Given the description of an element on the screen output the (x, y) to click on. 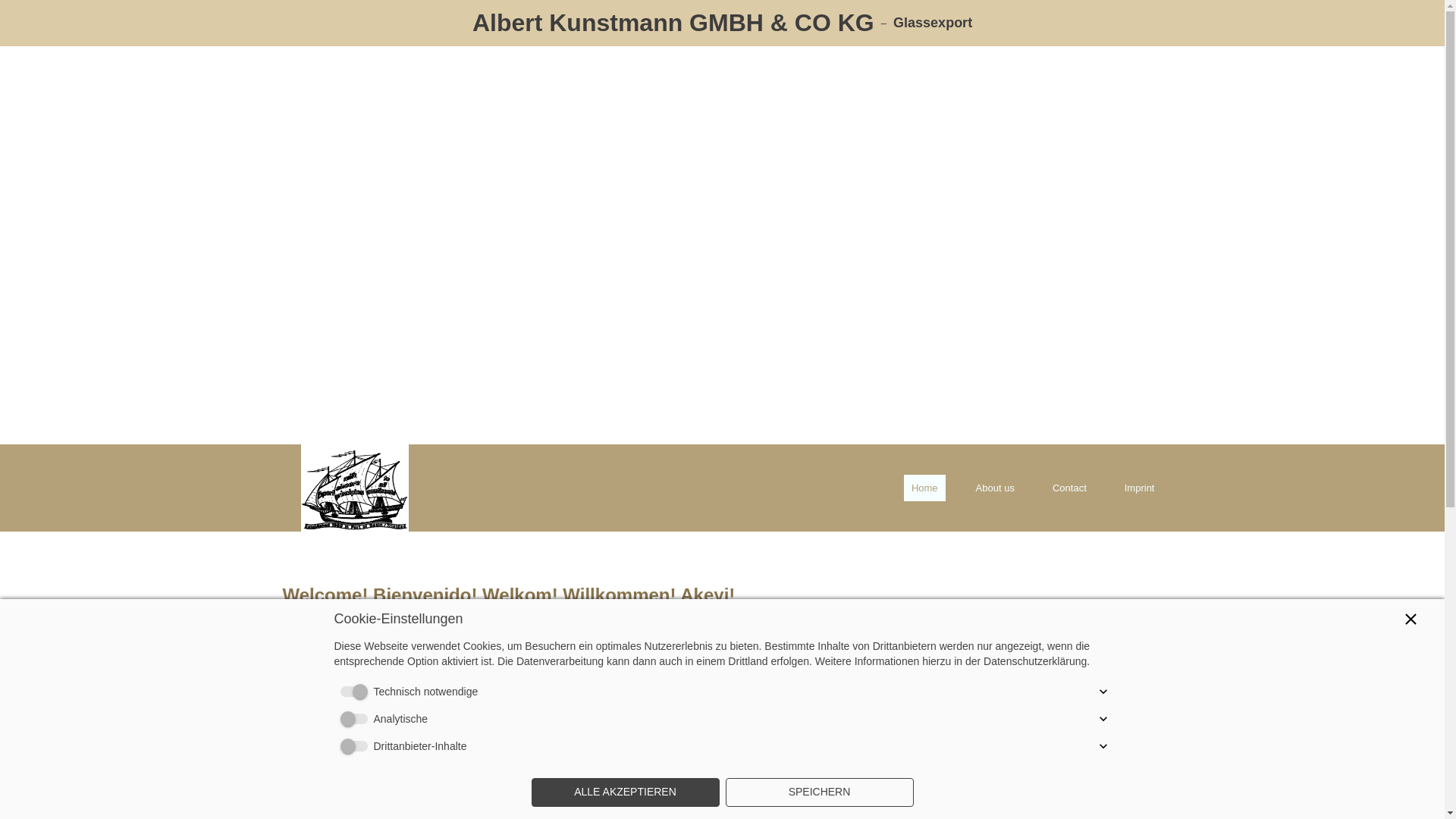
Contact (1069, 487)
About us (994, 487)
Contact (1069, 487)
Imprint (1139, 487)
About us (994, 487)
Home (924, 487)
Imprint (1139, 487)
Home (924, 487)
